Given the description of an element on the screen output the (x, y) to click on. 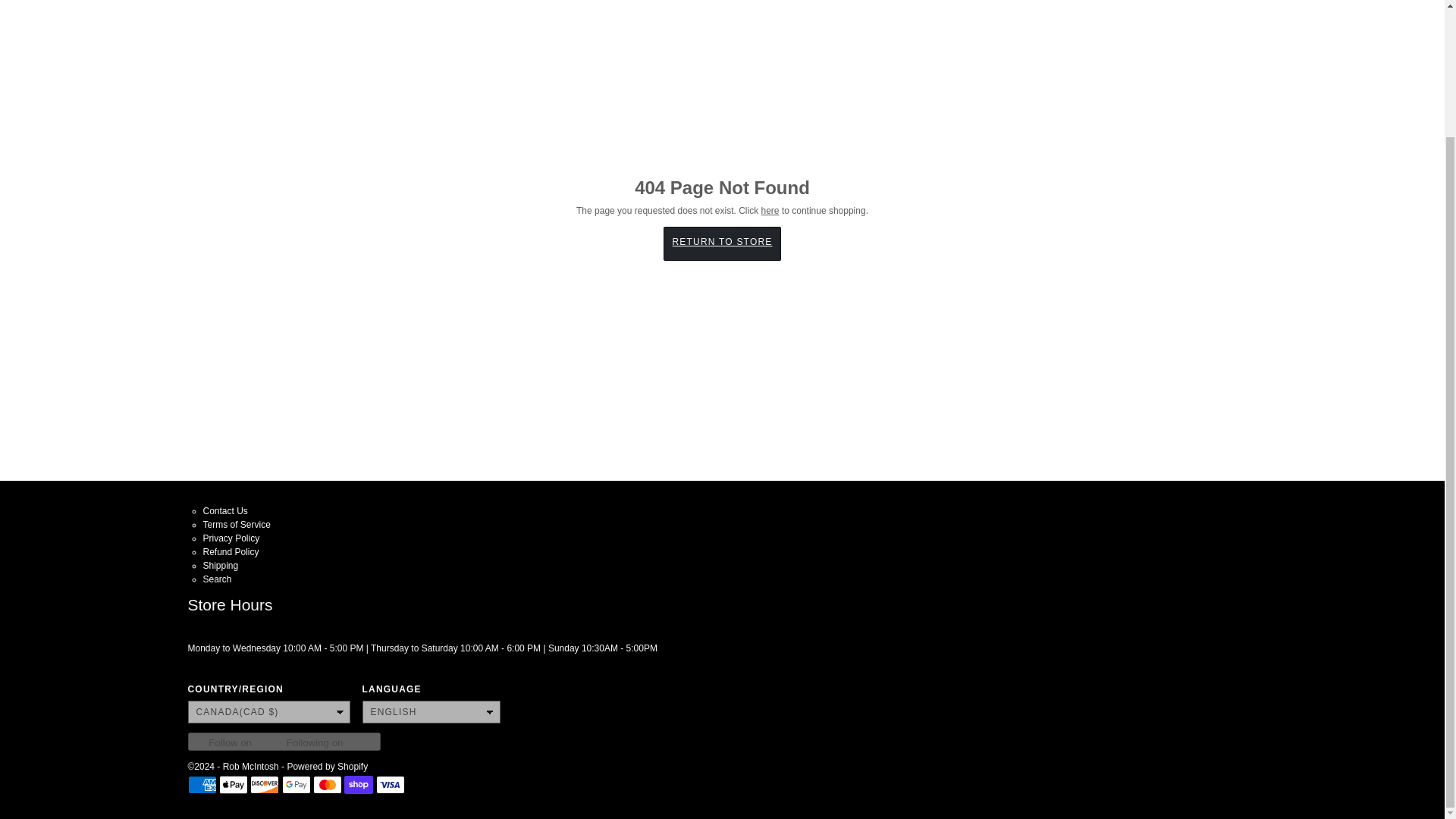
Apple Pay (233, 784)
here (769, 210)
American Express (201, 784)
Shop Pay (357, 784)
Terms of Service (236, 524)
Contact Us (225, 510)
Google Pay (296, 784)
RETURN TO STORE (721, 243)
Privacy Policy (231, 538)
Discover (264, 784)
Visa (389, 784)
Mastercard (327, 784)
